Given the description of an element on the screen output the (x, y) to click on. 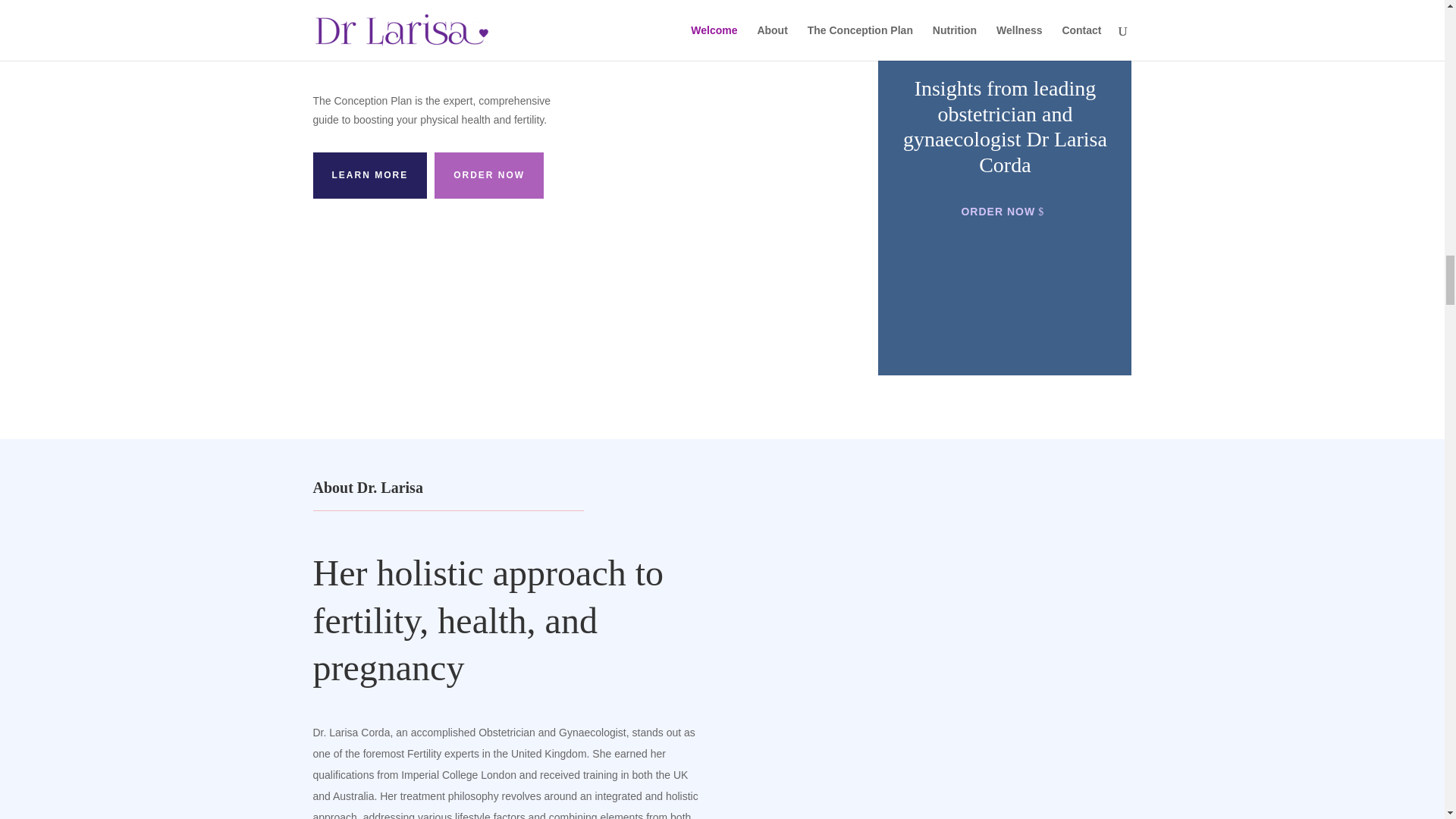
LEARN MORE (369, 175)
ORDER NOW (1005, 211)
ORDER NOW (488, 175)
